Given the description of an element on the screen output the (x, y) to click on. 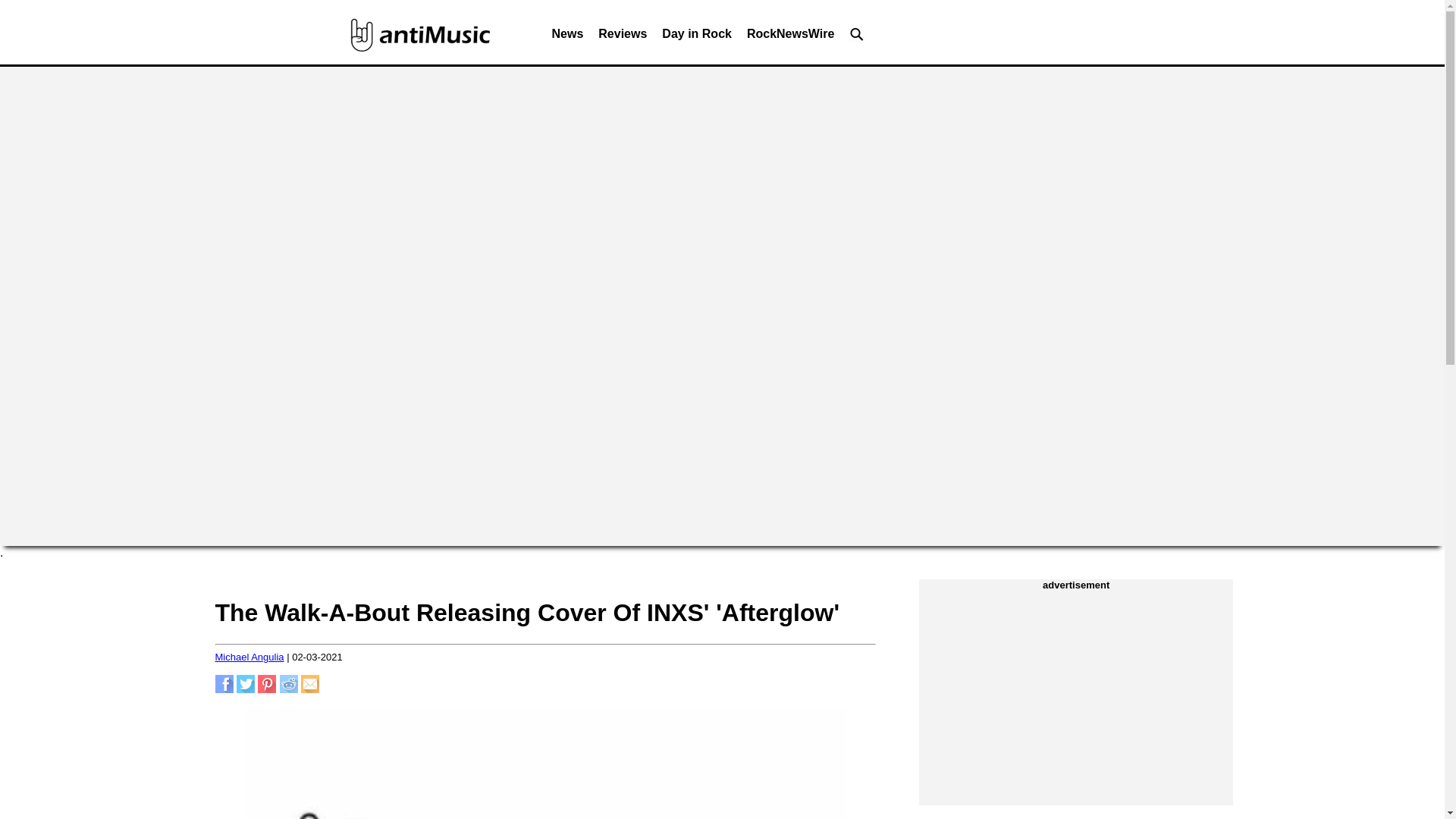
Tweet (244, 688)
Share on Facebook (223, 688)
Reviews (622, 38)
Share on Reddit (288, 688)
Day in Rock (696, 38)
RockNewsWire (790, 38)
Send email (309, 688)
Pin it (266, 688)
News (567, 38)
Advertisement (1076, 696)
Michael Angulia (249, 656)
